Given the description of an element on the screen output the (x, y) to click on. 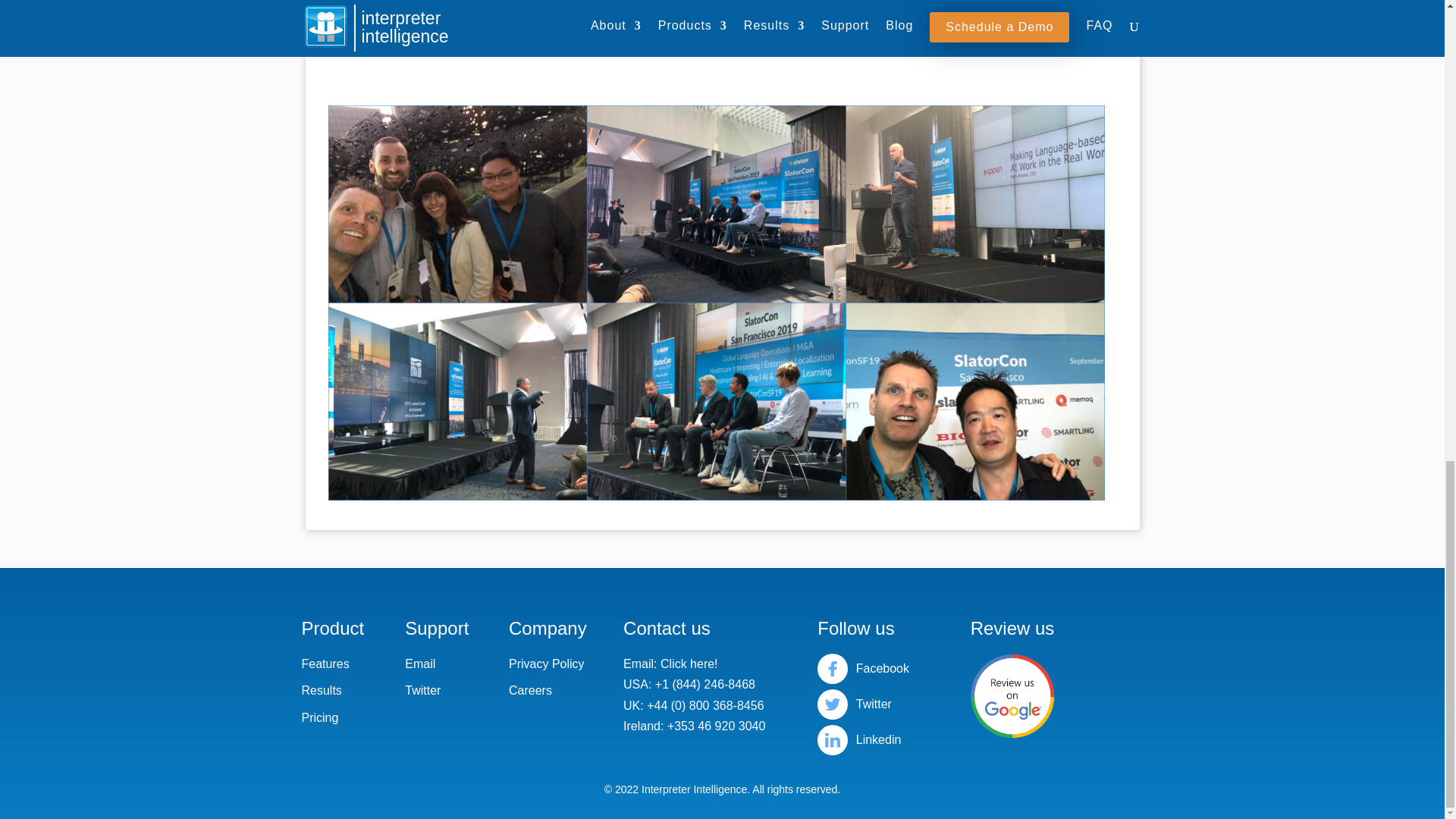
Facebook (862, 668)
Twitter (862, 704)
Linkedin (862, 739)
